Given the description of an element on the screen output the (x, y) to click on. 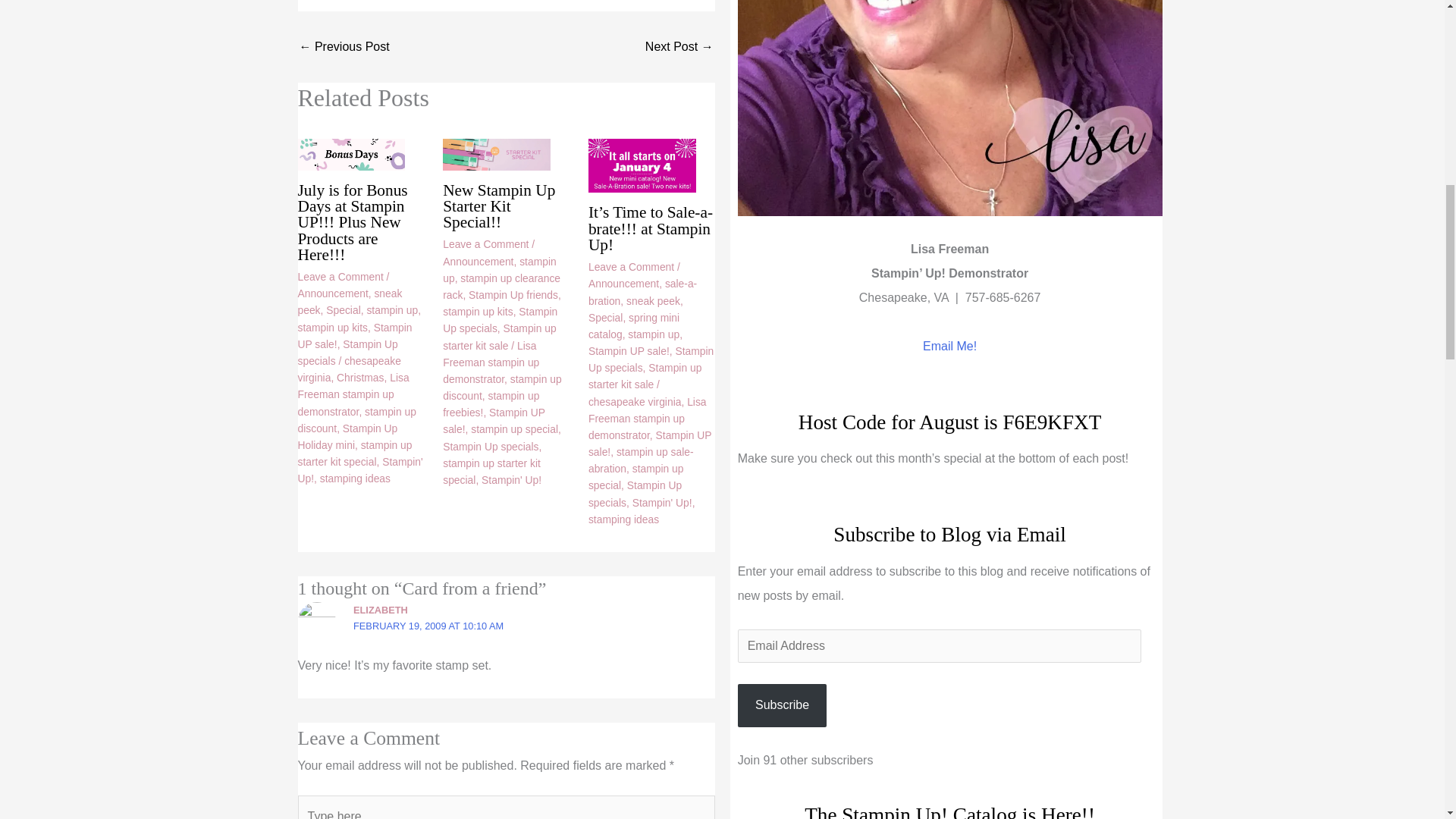
Stampin UP sale! (354, 335)
sneak peek (349, 301)
Stampin' Up! (359, 469)
chesapeake virginia (348, 369)
stampin up starter kit special (354, 452)
Lisa Freeman stampin up demonstrator (353, 393)
Another surprise in the mail (679, 46)
stampin up discount (355, 419)
Stampin Up specials (347, 352)
Special (342, 309)
